Given the description of an element on the screen output the (x, y) to click on. 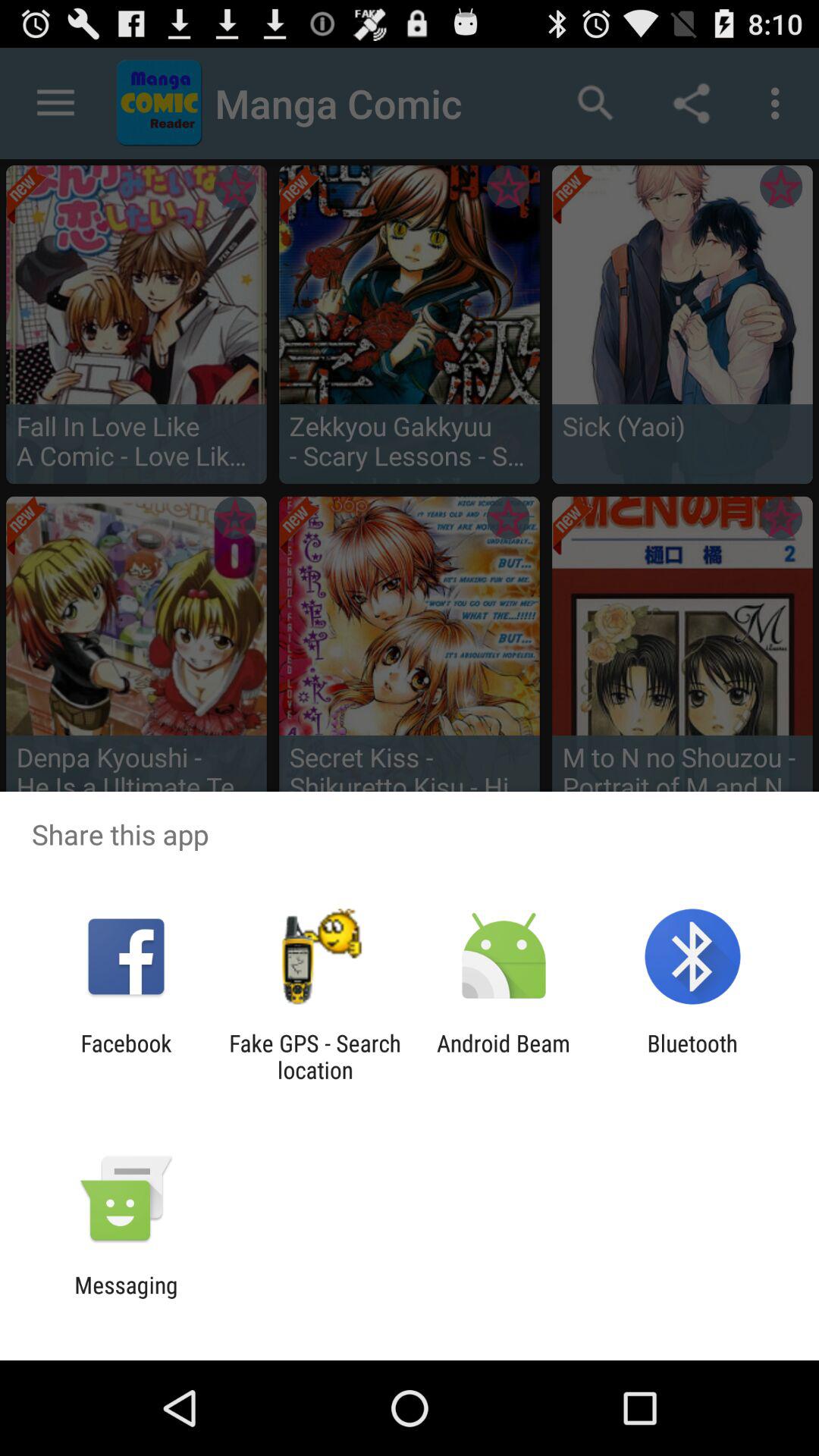
select the icon next to the android beam app (692, 1056)
